Given the description of an element on the screen output the (x, y) to click on. 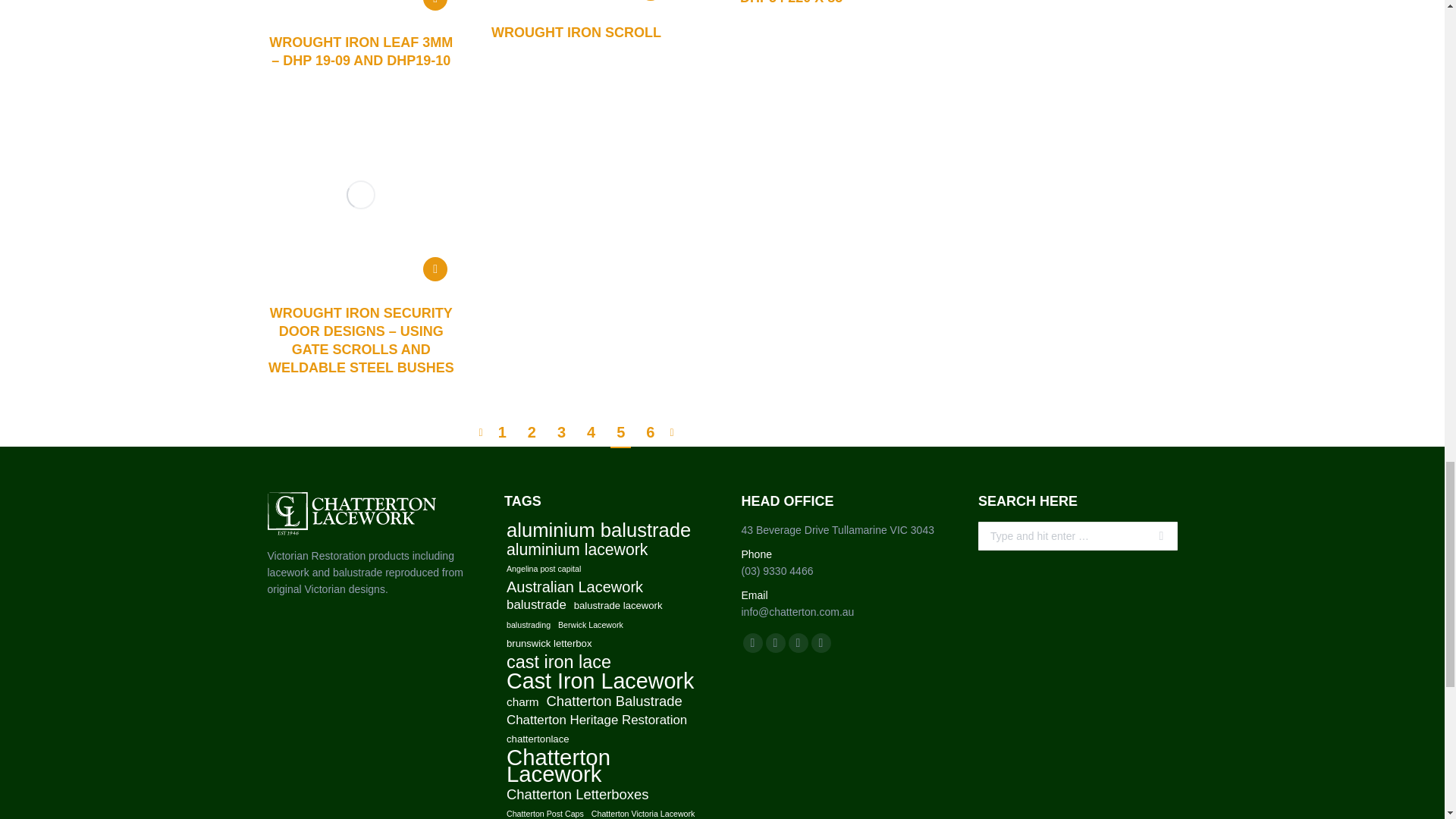
Go! (1154, 535)
Go! (1154, 535)
